Given the description of an element on the screen output the (x, y) to click on. 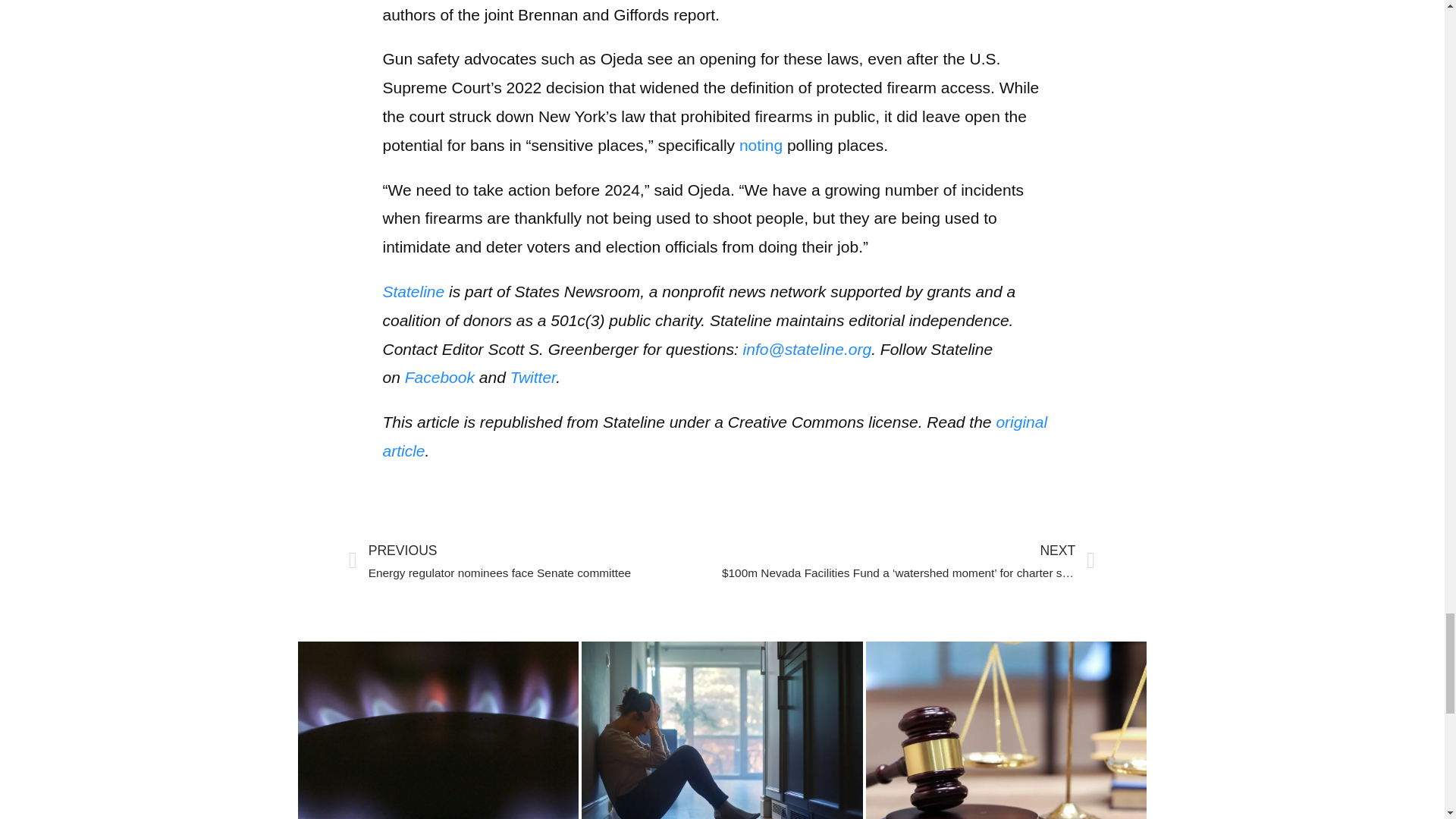
original article (713, 436)
Stateline (412, 291)
Facebook (439, 376)
noting (761, 144)
Twitter (533, 376)
